Given the description of an element on the screen output the (x, y) to click on. 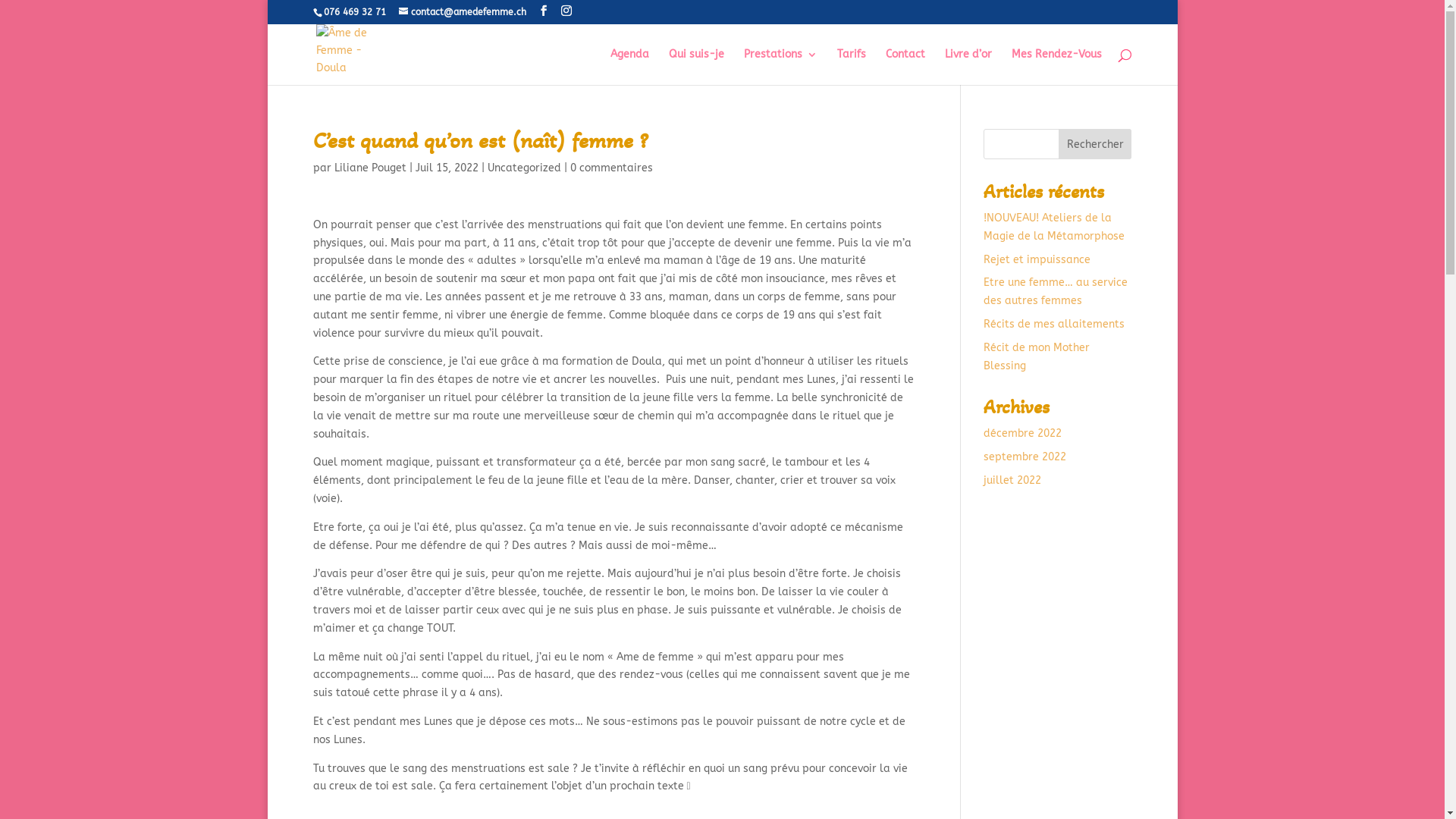
Agenda Element type: text (628, 66)
Liliane Pouget Element type: text (369, 167)
septembre 2022 Element type: text (1024, 456)
contact@amedefemme.ch Element type: text (462, 11)
juillet 2022 Element type: text (1012, 479)
Tarifs Element type: text (851, 66)
0 commentaires Element type: text (611, 167)
Contact Element type: text (905, 66)
Uncategorized Element type: text (523, 167)
Rejet et impuissance Element type: text (1036, 259)
Prestations Element type: text (779, 66)
Mes Rendez-Vous Element type: text (1056, 66)
Qui suis-je Element type: text (696, 66)
Rechercher Element type: text (1095, 143)
